Given the description of an element on the screen output the (x, y) to click on. 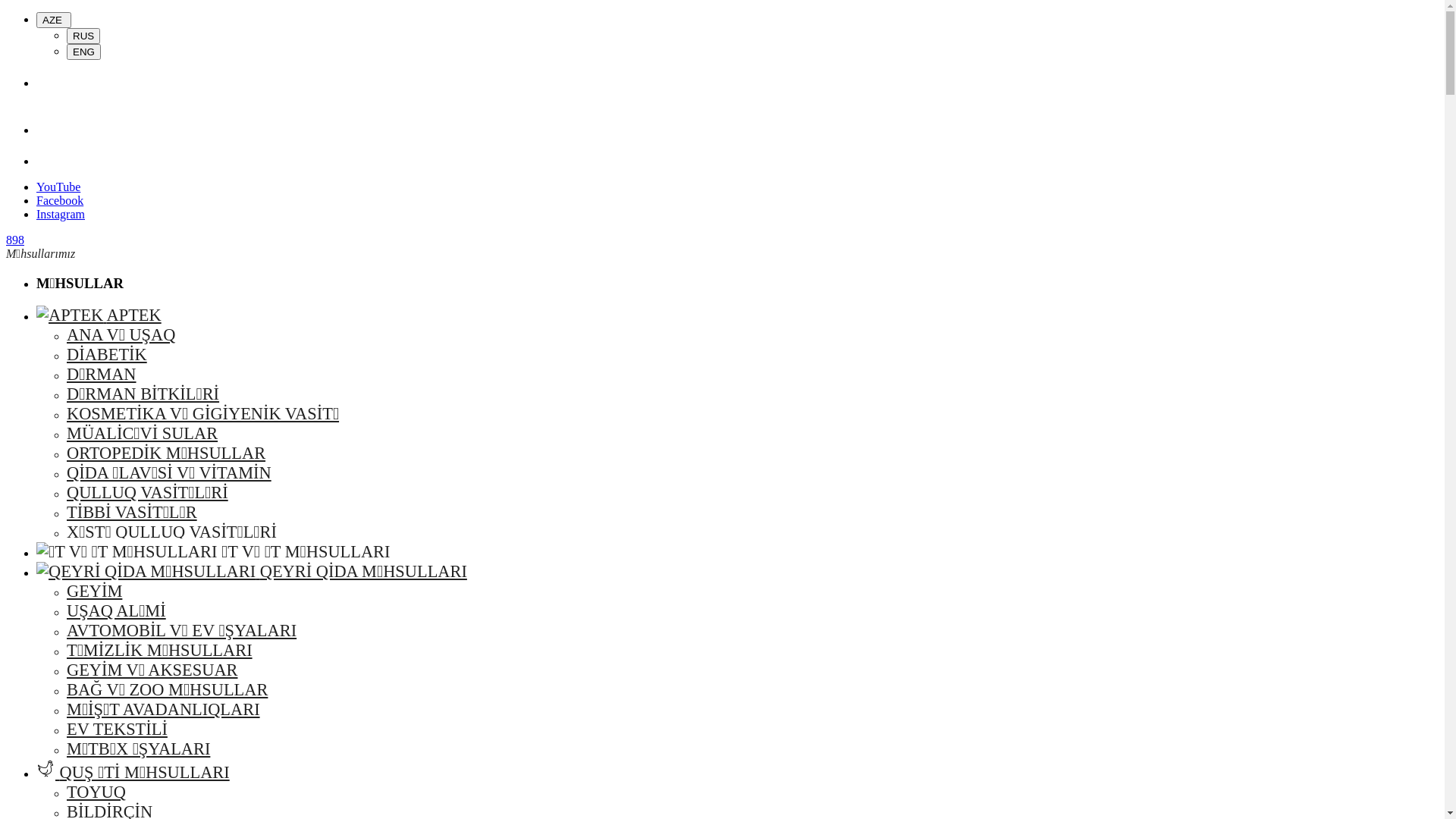
898 Element type: text (15, 239)
DIABETIK Element type: text (106, 354)
APTEK Element type: text (98, 314)
YouTube Element type: text (58, 186)
GEYIM Element type: text (94, 590)
AZE  Element type: text (53, 20)
ENG Element type: text (83, 51)
TOYUQ Element type: text (95, 791)
Facebook Element type: text (59, 200)
Instagram Element type: text (60, 213)
EV TEKSTILI Element type: text (116, 728)
RUS Element type: text (83, 35)
